Given the description of an element on the screen output the (x, y) to click on. 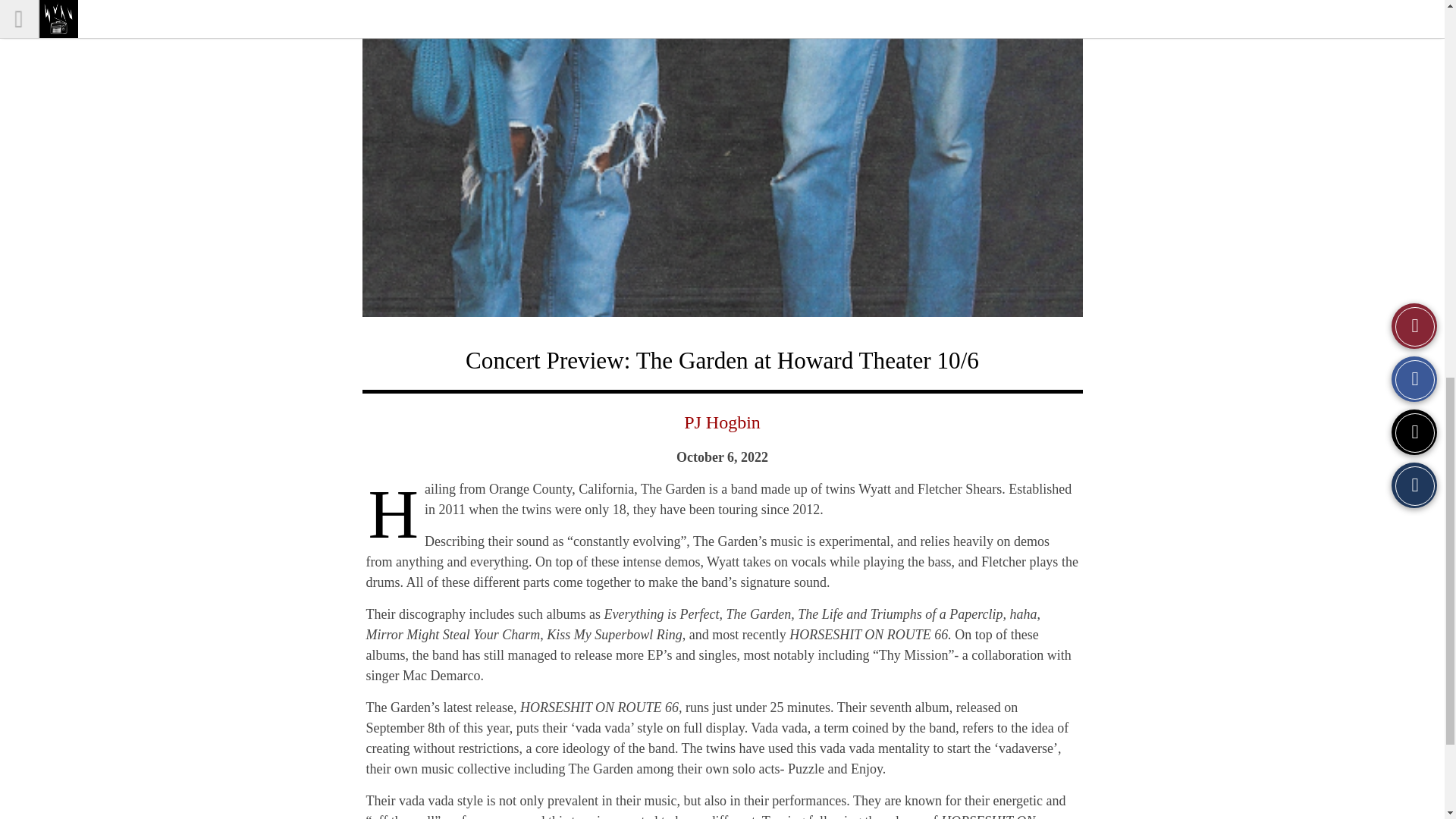
PJ Hogbin (722, 422)
